Given the description of an element on the screen output the (x, y) to click on. 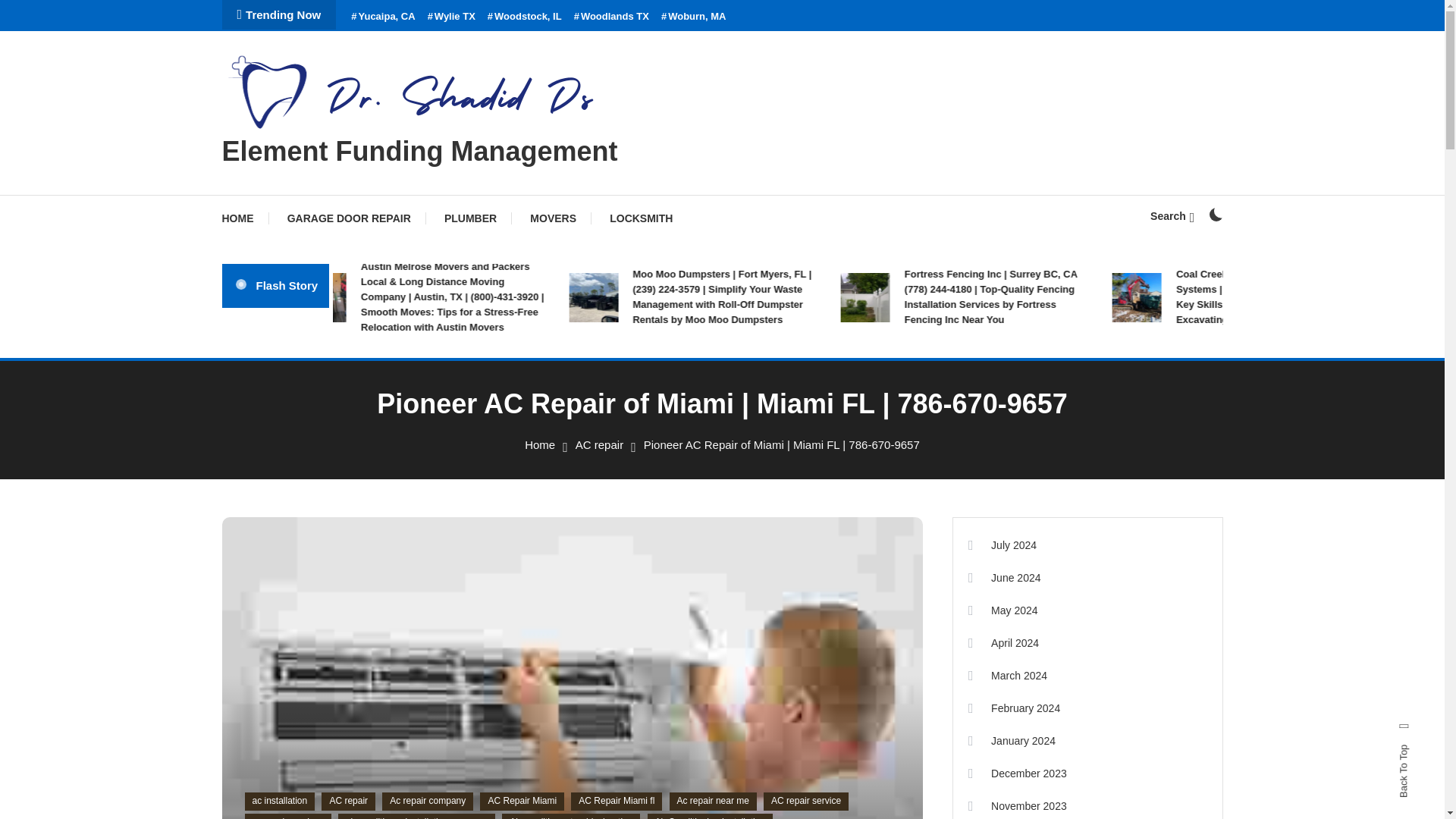
Ac repair company (427, 801)
Woburn, MA (693, 16)
Woodstock, IL (524, 16)
Search (768, 434)
Home (539, 444)
AC repair (348, 801)
Wylie TX (452, 16)
on (1215, 214)
GARAGE DOOR REPAIR (349, 217)
ac installation (279, 801)
Element Funding Management (419, 151)
AC repair (599, 444)
LOCKSMITH (640, 217)
PLUMBER (470, 217)
Yucaipa, CA (382, 16)
